Given the description of an element on the screen output the (x, y) to click on. 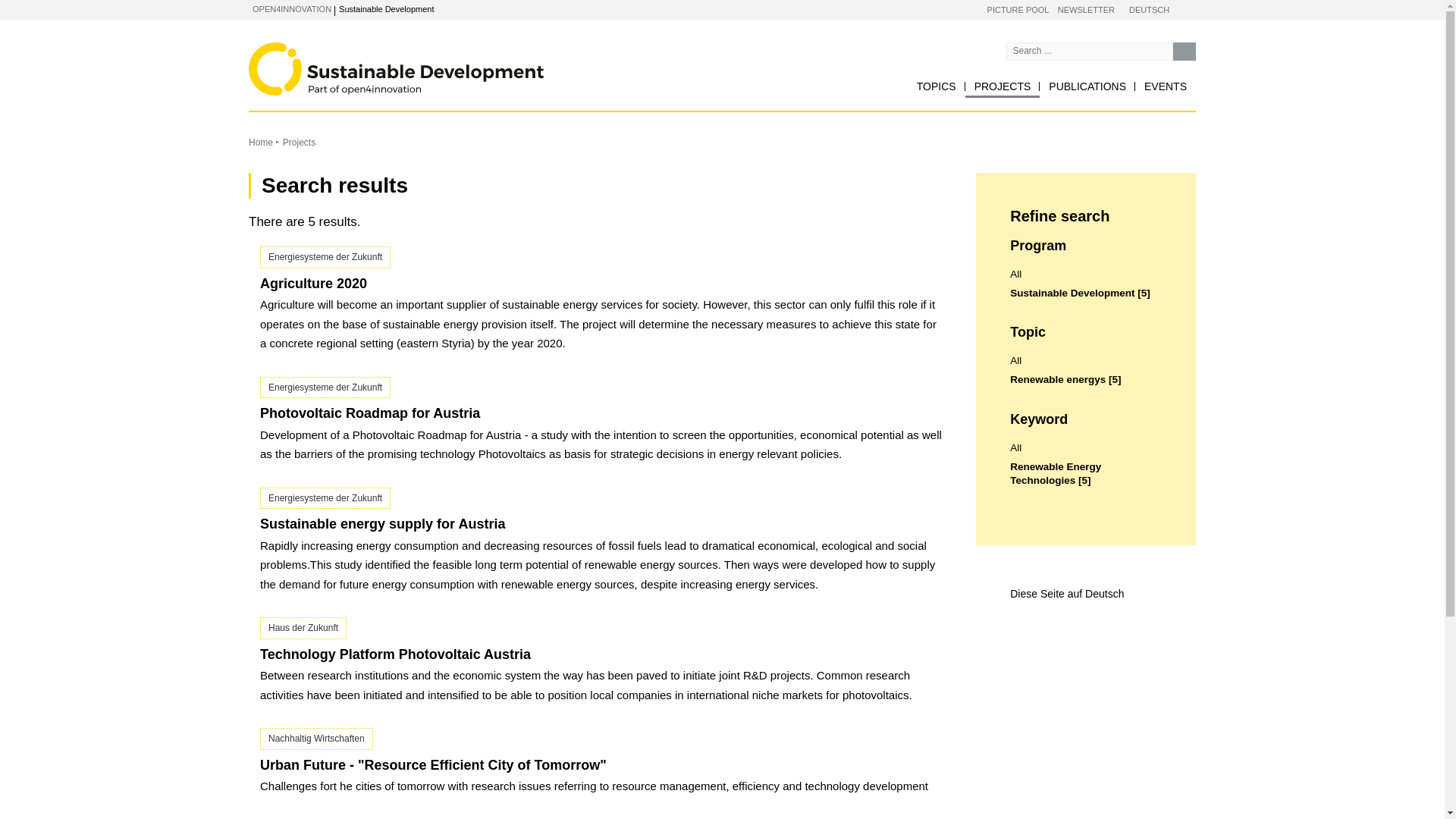
Show (362, 10)
PICTURE POOL (1018, 10)
NEWSLETTER (1086, 10)
OPEN4INNOVATION (291, 9)
PROJECTS (1003, 86)
PUBLICATIONS (1087, 86)
TOPICS (936, 86)
DEUTSCH (1149, 10)
Search ... (1184, 51)
